Given the description of an element on the screen output the (x, y) to click on. 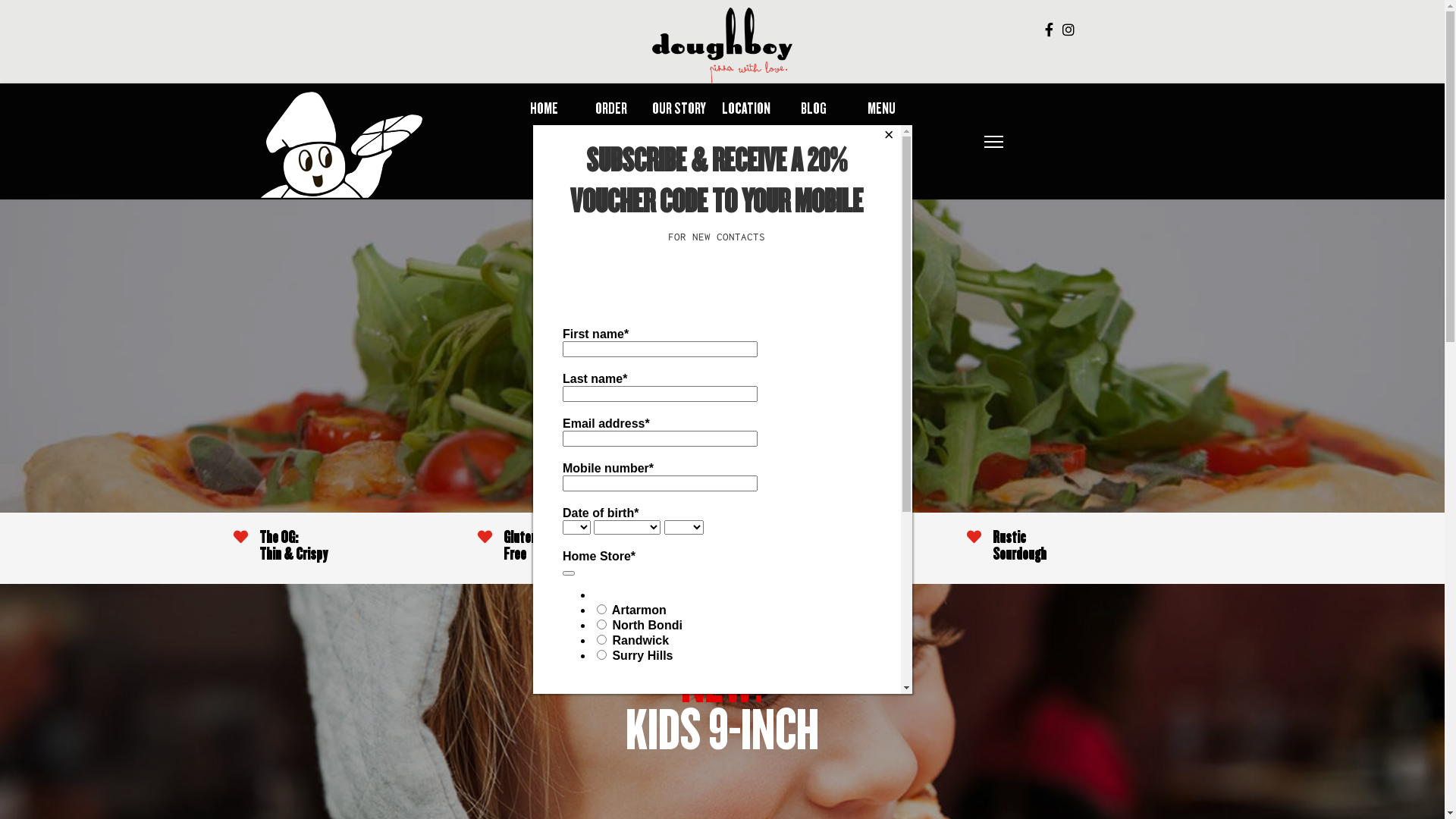
LOCATION Element type: text (745, 109)
OUR STORY Element type: text (679, 109)
ORDER Element type: text (611, 109)
BLOG Element type: text (813, 109)
MENU Element type: text (881, 109)
Follow Doughboy on Facebook Element type: hover (1048, 29)
ALL ABOUT THE BASES Element type: text (721, 466)
HOME Element type: text (543, 109)
Follow Doughboy on Instagram Element type: hover (1068, 29)
HUNGRY? CLICK HERE TO ORDER ONLINE Element type: text (712, 159)
